Given the description of an element on the screen output the (x, y) to click on. 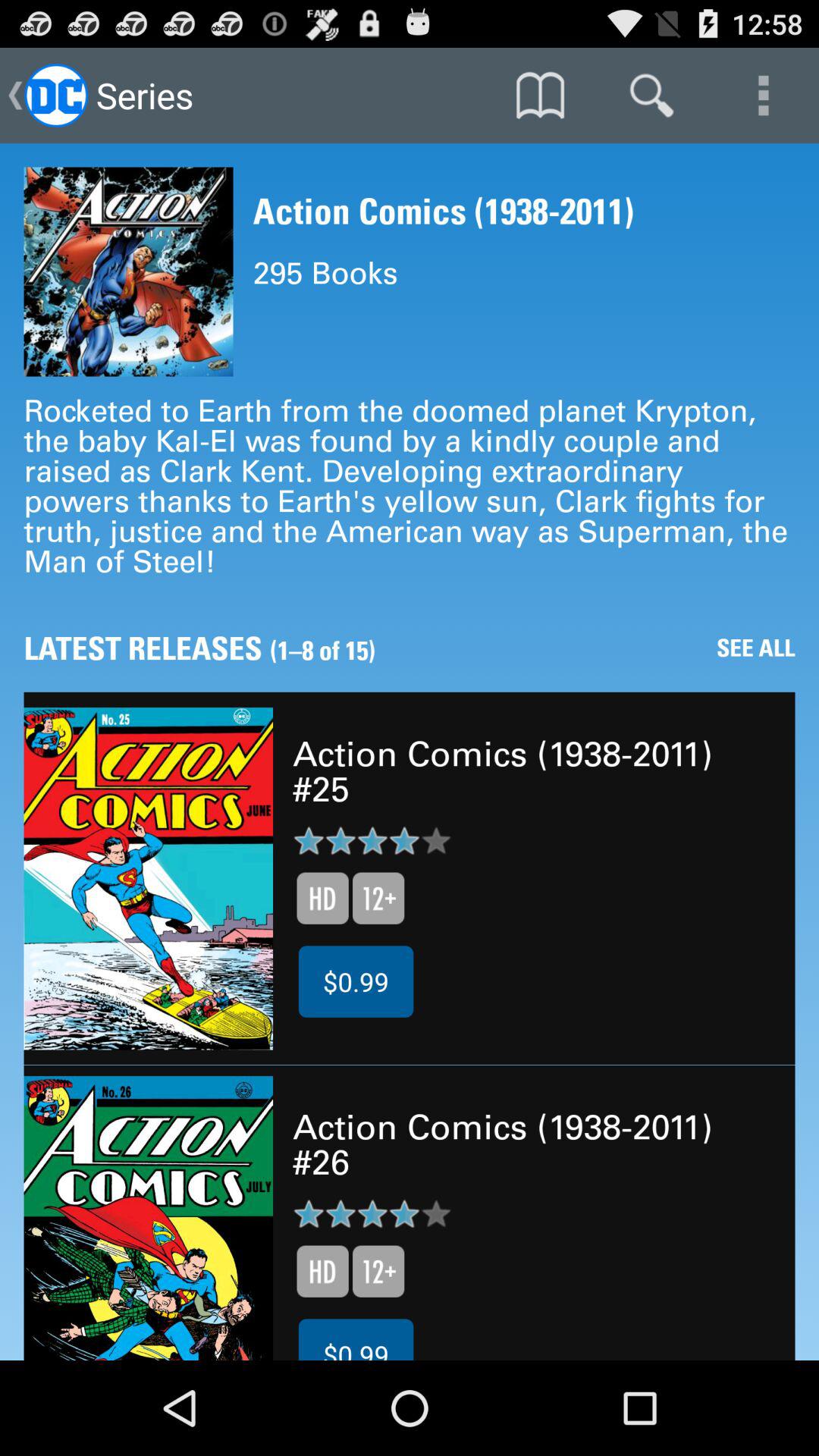
press the item to the right of series icon (540, 95)
